Given the description of an element on the screen output the (x, y) to click on. 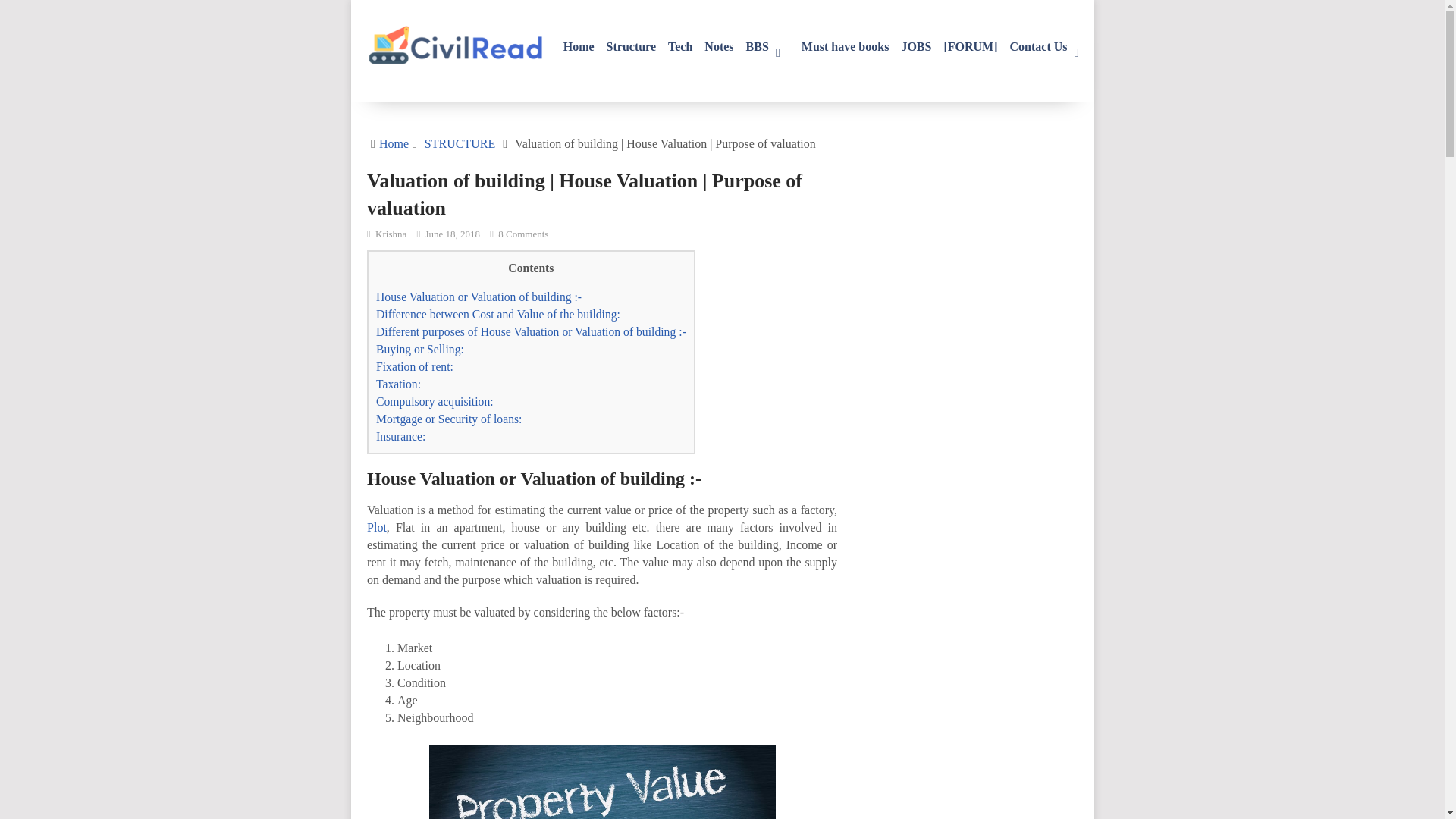
Compulsory acquisition: (434, 400)
Contact Us (1049, 39)
Insurance: (400, 436)
8 Comments (522, 233)
Home (578, 39)
Plot (376, 526)
Notes (718, 39)
Krishna (390, 233)
Mortgage or Security of loans: (448, 418)
Structure (630, 39)
Posts by Krishna (390, 233)
Taxation: (397, 383)
Buying or Selling: (419, 349)
Difference between Cost and Value of the building: (497, 314)
Home (393, 143)
